Given the description of an element on the screen output the (x, y) to click on. 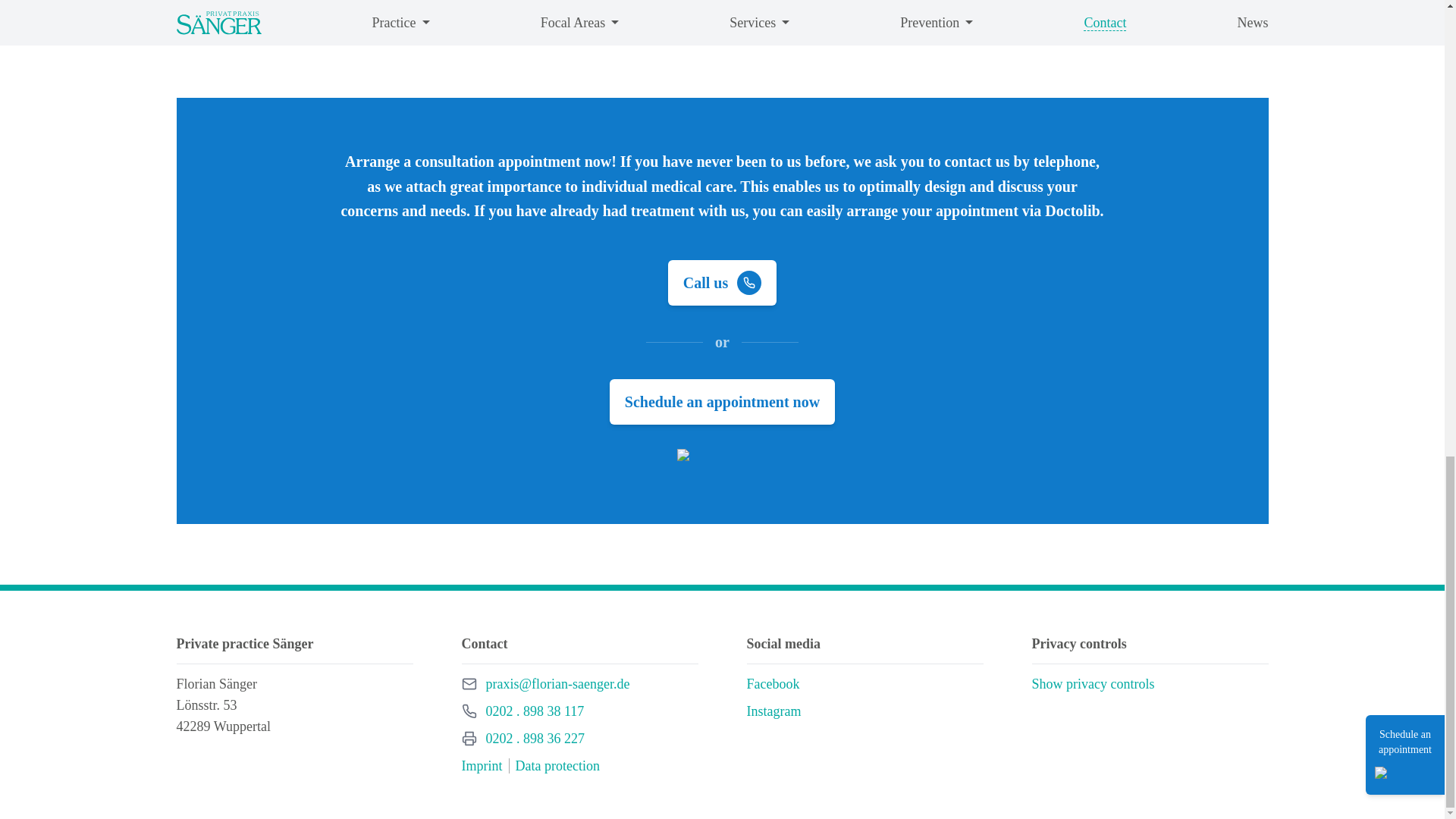
Data protection (557, 765)
Imprint (481, 765)
Facebook (772, 683)
Show privacy controls (1092, 683)
Schedule an appointment now (722, 402)
Call us (533, 711)
Instagram (534, 738)
